Given the description of an element on the screen output the (x, y) to click on. 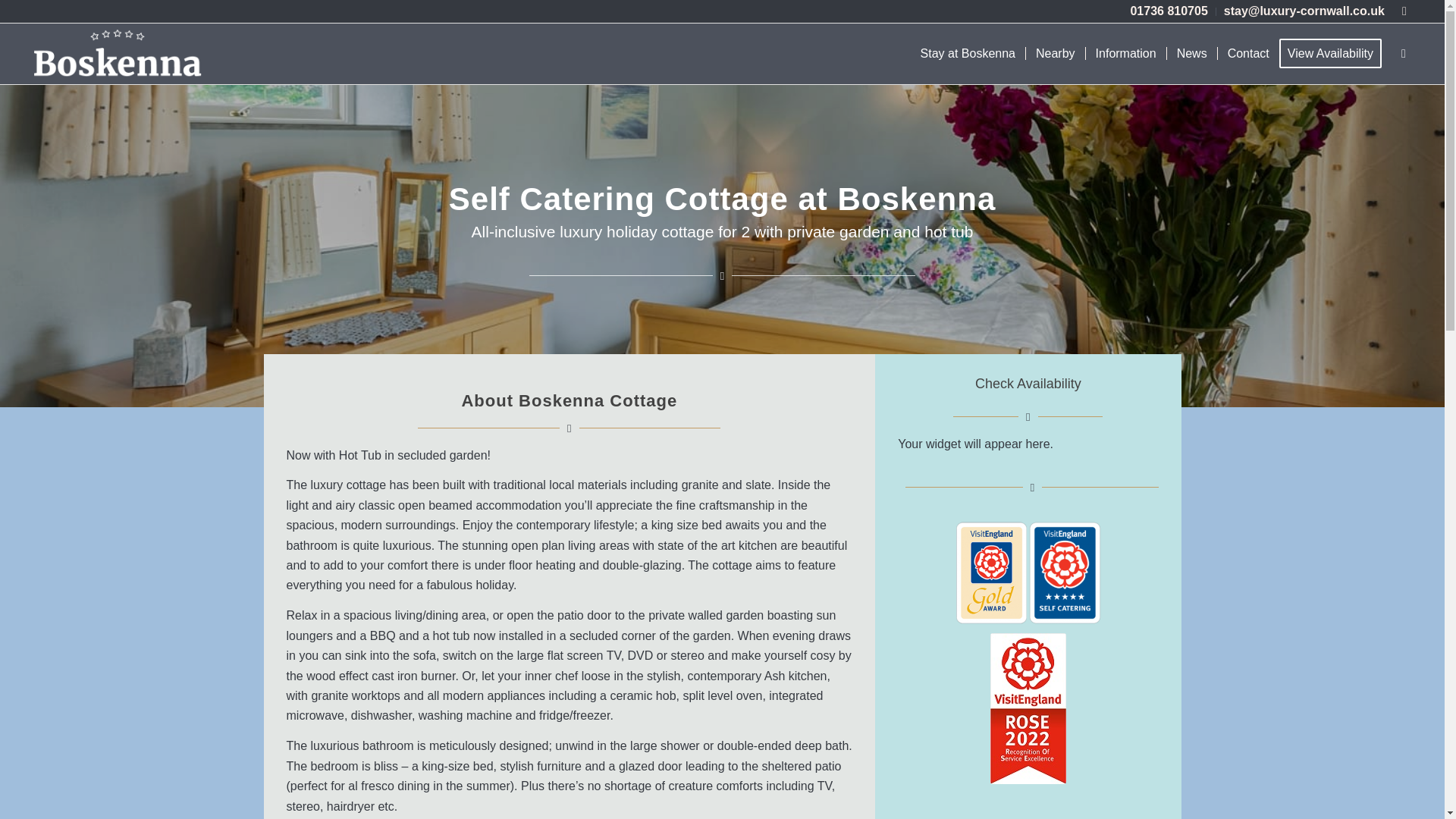
Nearby (1054, 53)
Contact (1248, 53)
VE 5 star Gold logo (1027, 572)
Information (1125, 53)
View Availability (1335, 53)
01736 810705 (1168, 11)
Stay at Boskenna (968, 53)
Facebook (1404, 11)
